Given the description of an element on the screen output the (x, y) to click on. 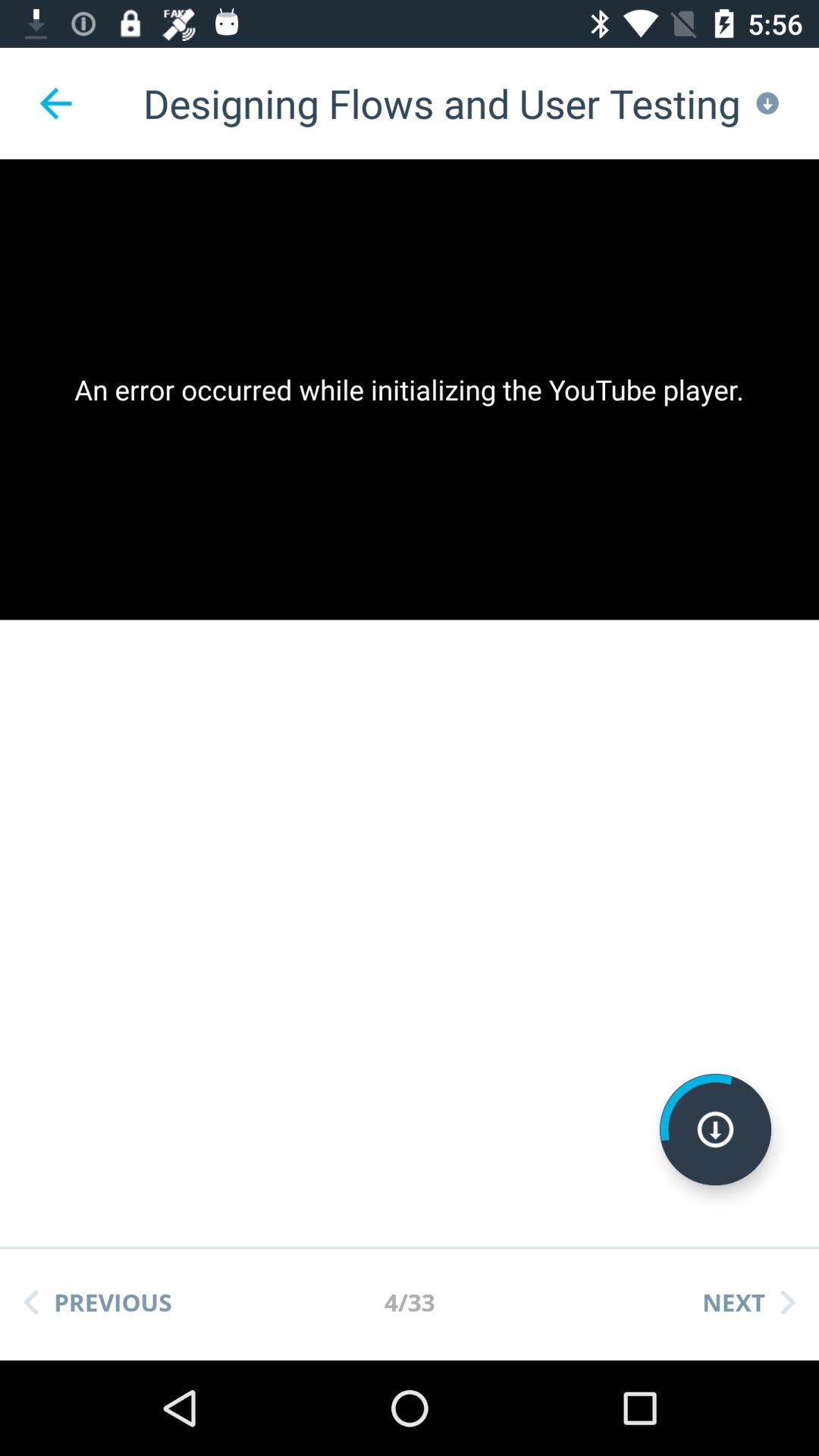
turn off item below an error occurred icon (715, 1129)
